Given the description of an element on the screen output the (x, y) to click on. 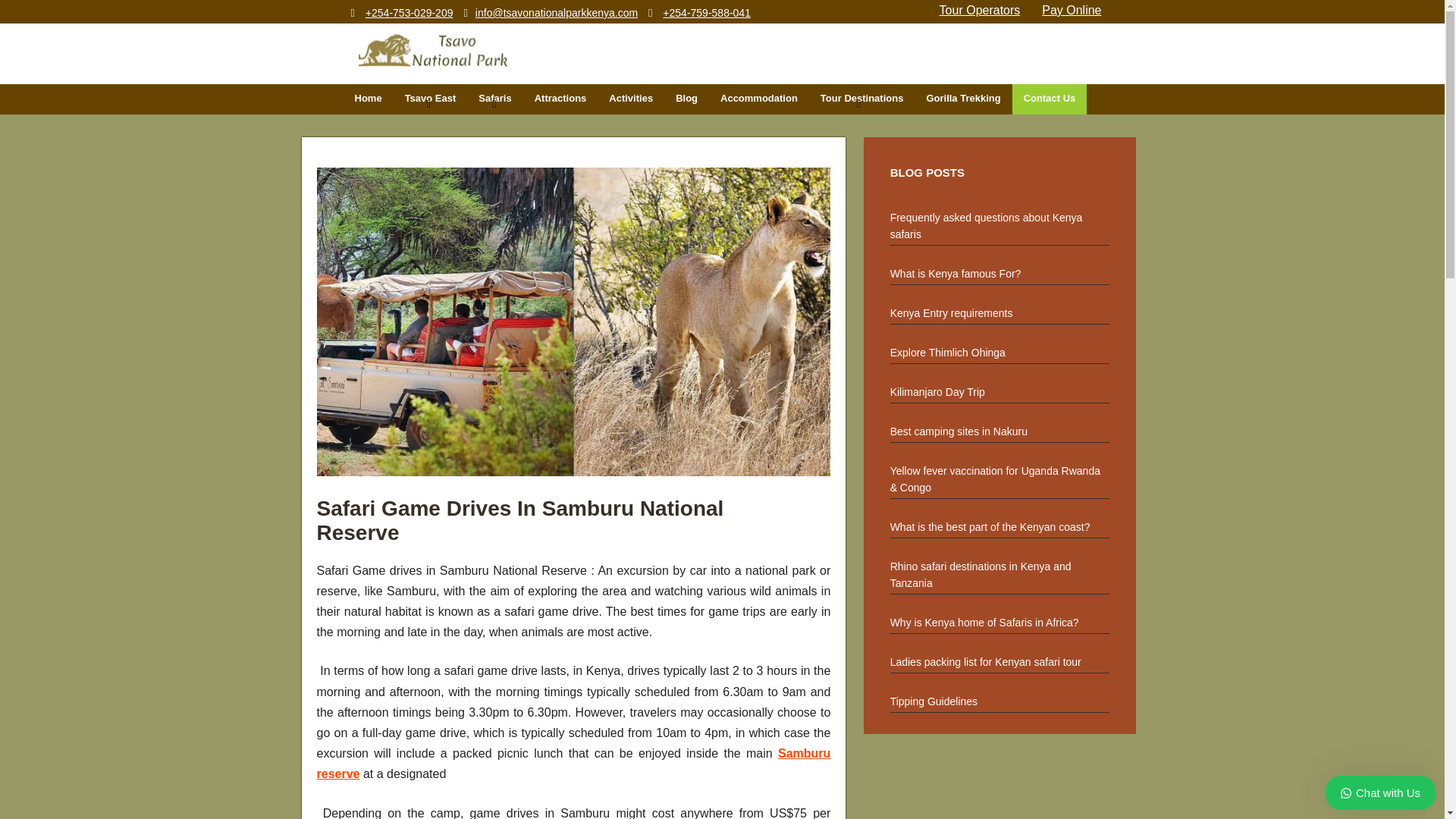
Tour Destinations (862, 99)
Kilimanjaro Day Trip (999, 388)
Tsavo East (430, 99)
Pay Online (1071, 10)
Activities (629, 99)
Gorilla Trekking (962, 99)
Kenya Entry requirements (999, 309)
Frequently asked questions about Kenya safaris (999, 222)
Blog (686, 99)
Home (367, 99)
Why is Kenya home of Safaris in Africa? (999, 619)
Attractions (560, 99)
Samburu reserve (574, 763)
Best camping sites in Nakuru (999, 427)
Explore Thimlich Ohinga (999, 349)
